Given the description of an element on the screen output the (x, y) to click on. 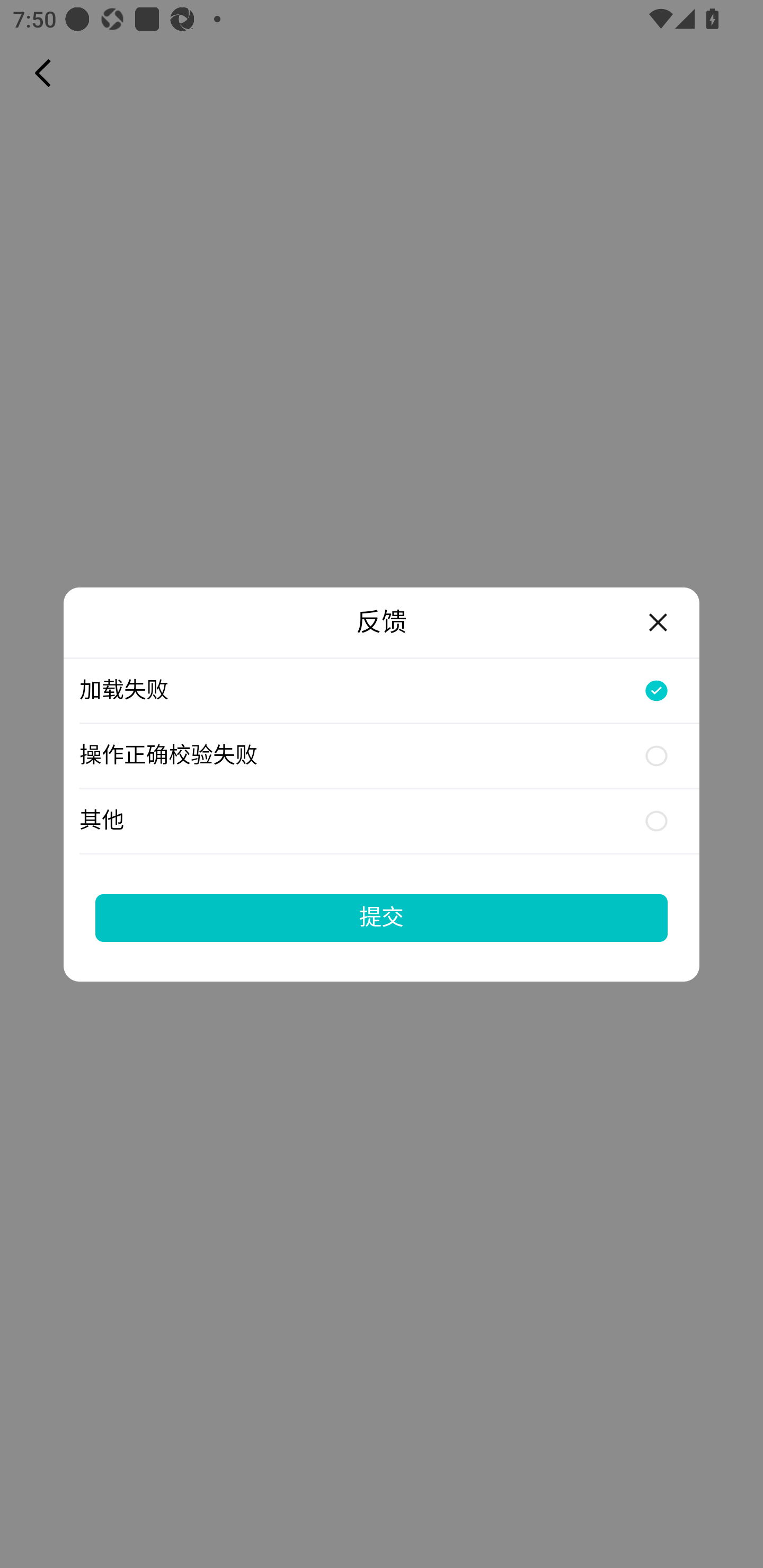
提交 (381, 917)
